Given the description of an element on the screen output the (x, y) to click on. 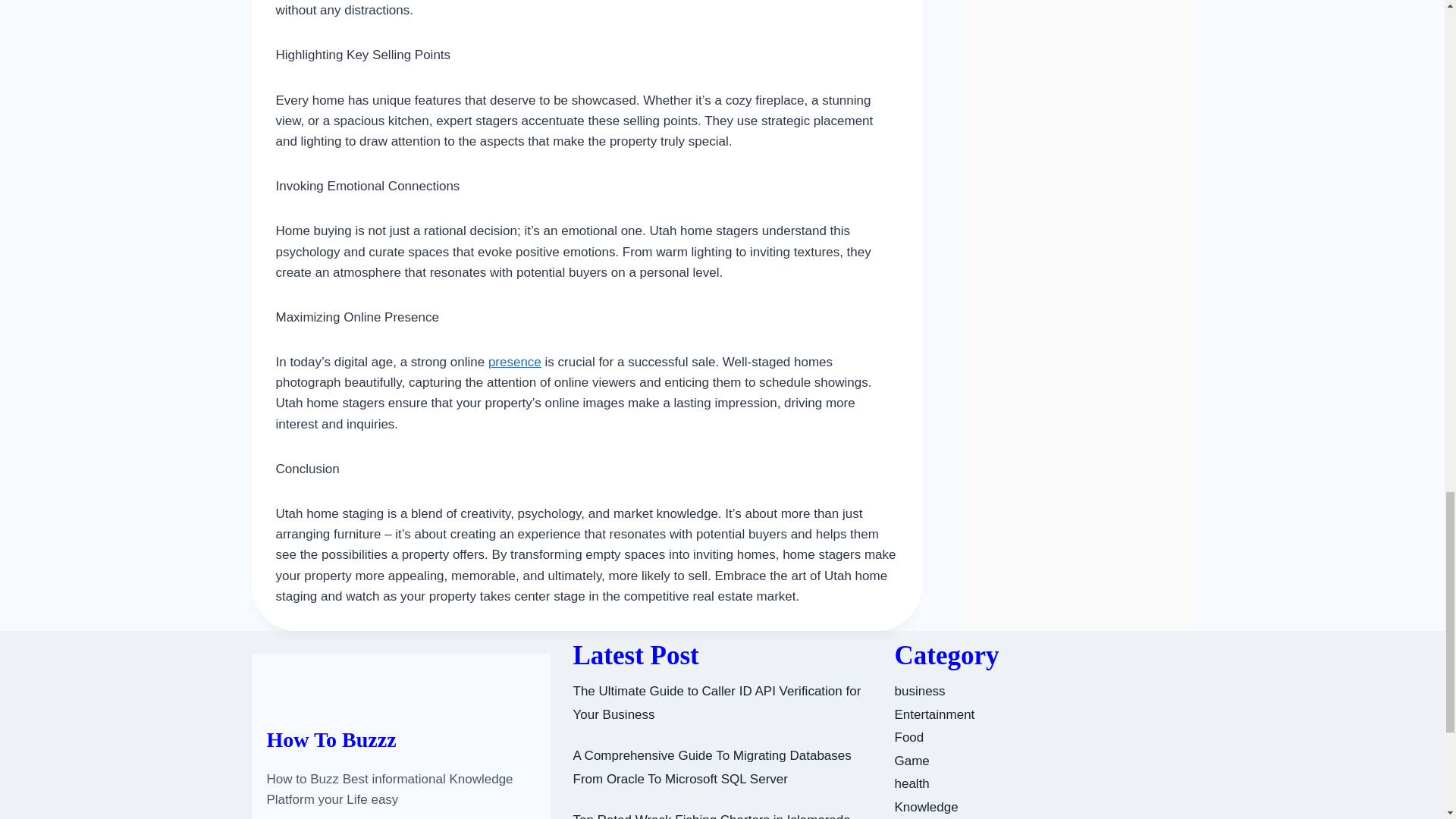
Entertainment (935, 714)
Knowledge (926, 807)
business (919, 690)
health (912, 783)
Game (912, 760)
Food (909, 737)
presence (514, 361)
